Given the description of an element on the screen output the (x, y) to click on. 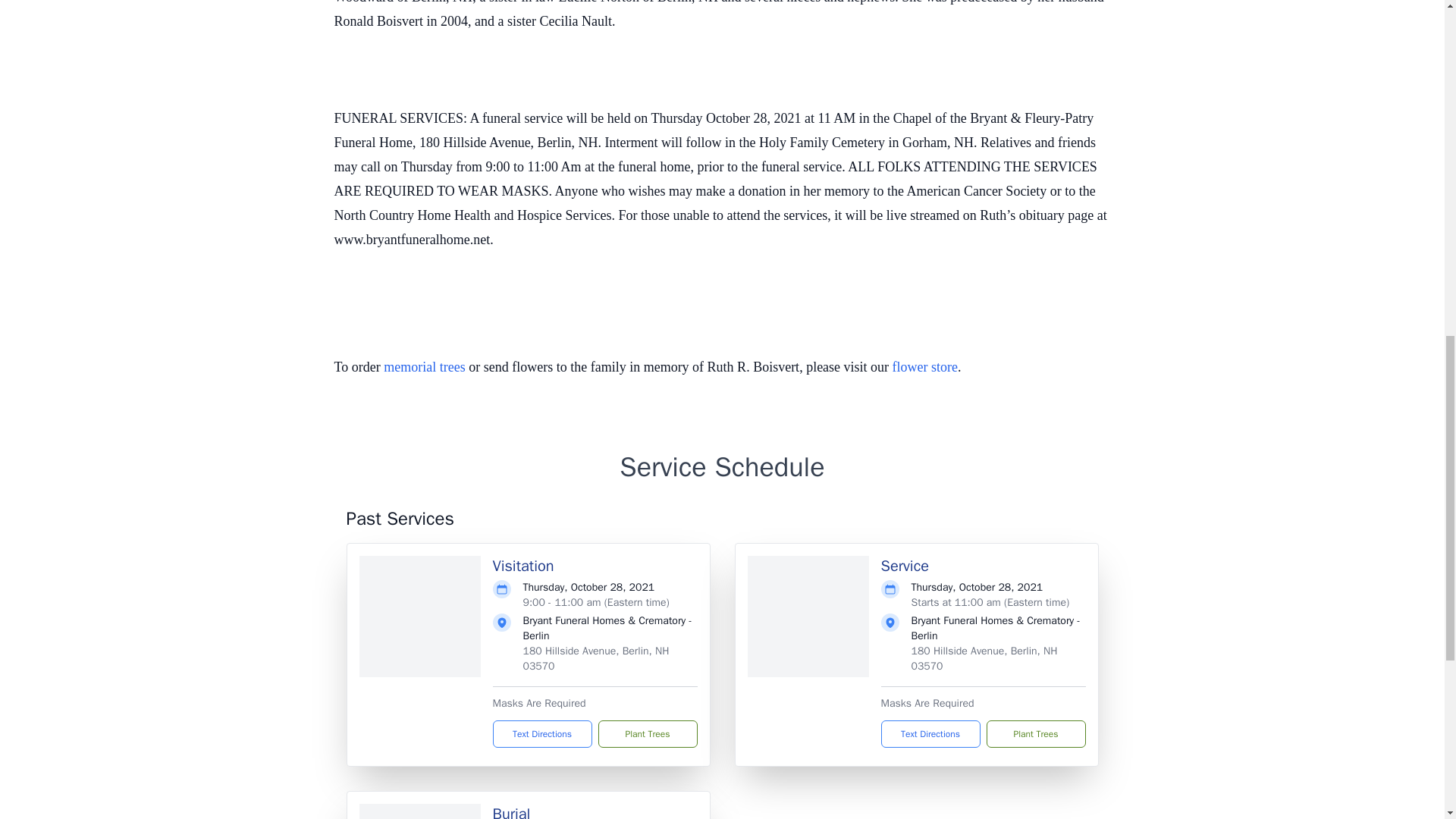
Plant Trees (646, 733)
180 Hillside Avenue, Berlin, NH 03570 (595, 658)
Text Directions (929, 733)
memorial trees (424, 366)
flower store (925, 366)
180 Hillside Avenue, Berlin, NH 03570 (984, 658)
Text Directions (542, 733)
Plant Trees (1034, 733)
